Given the description of an element on the screen output the (x, y) to click on. 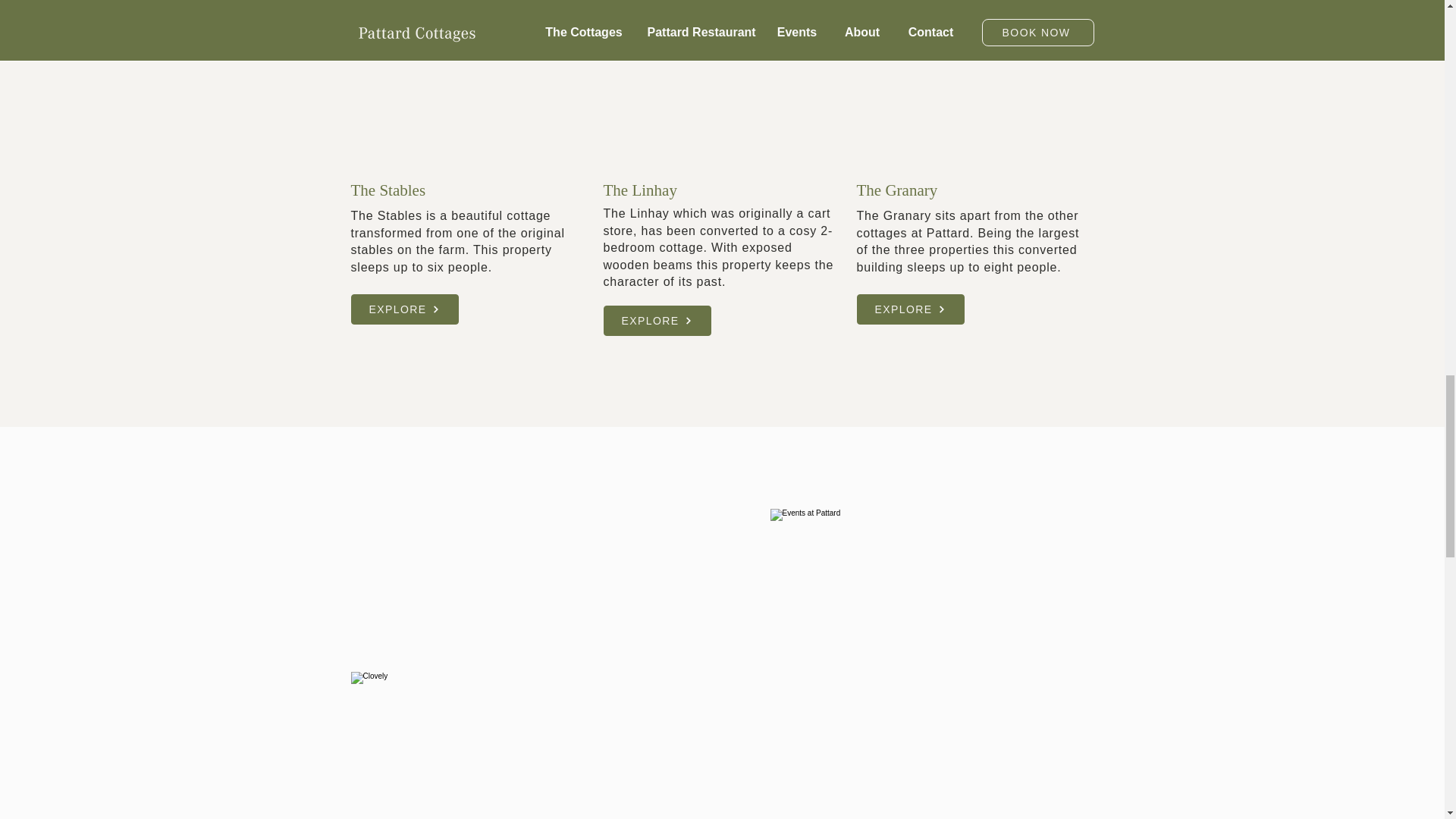
pexels-mick-latter-12573941.jpeg (509, 745)
EXPLORE (657, 320)
EXPLORE (910, 309)
EXPLORE (404, 309)
